Given the description of an element on the screen output the (x, y) to click on. 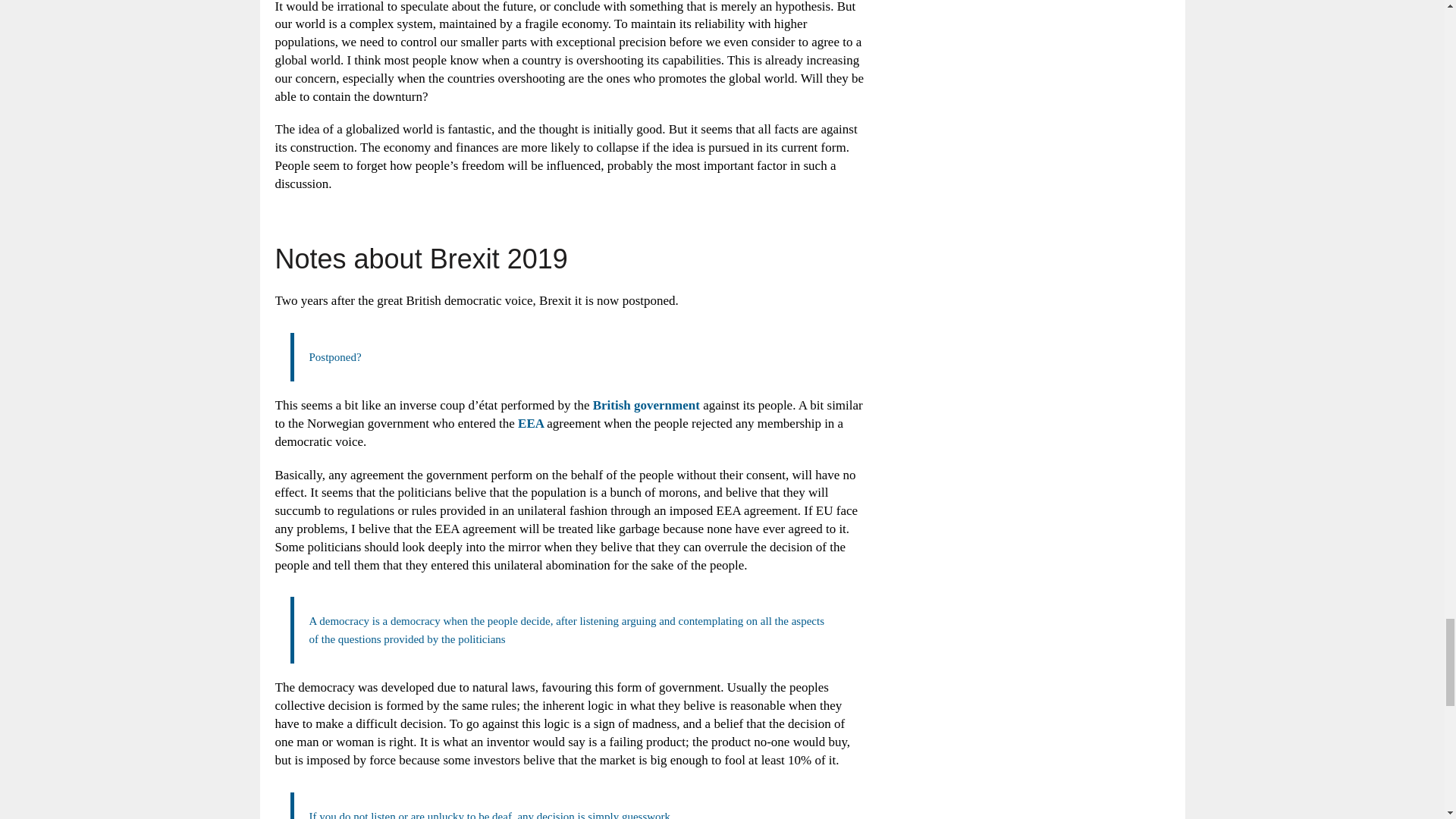
British government (646, 405)
EEA (532, 423)
